Given the description of an element on the screen output the (x, y) to click on. 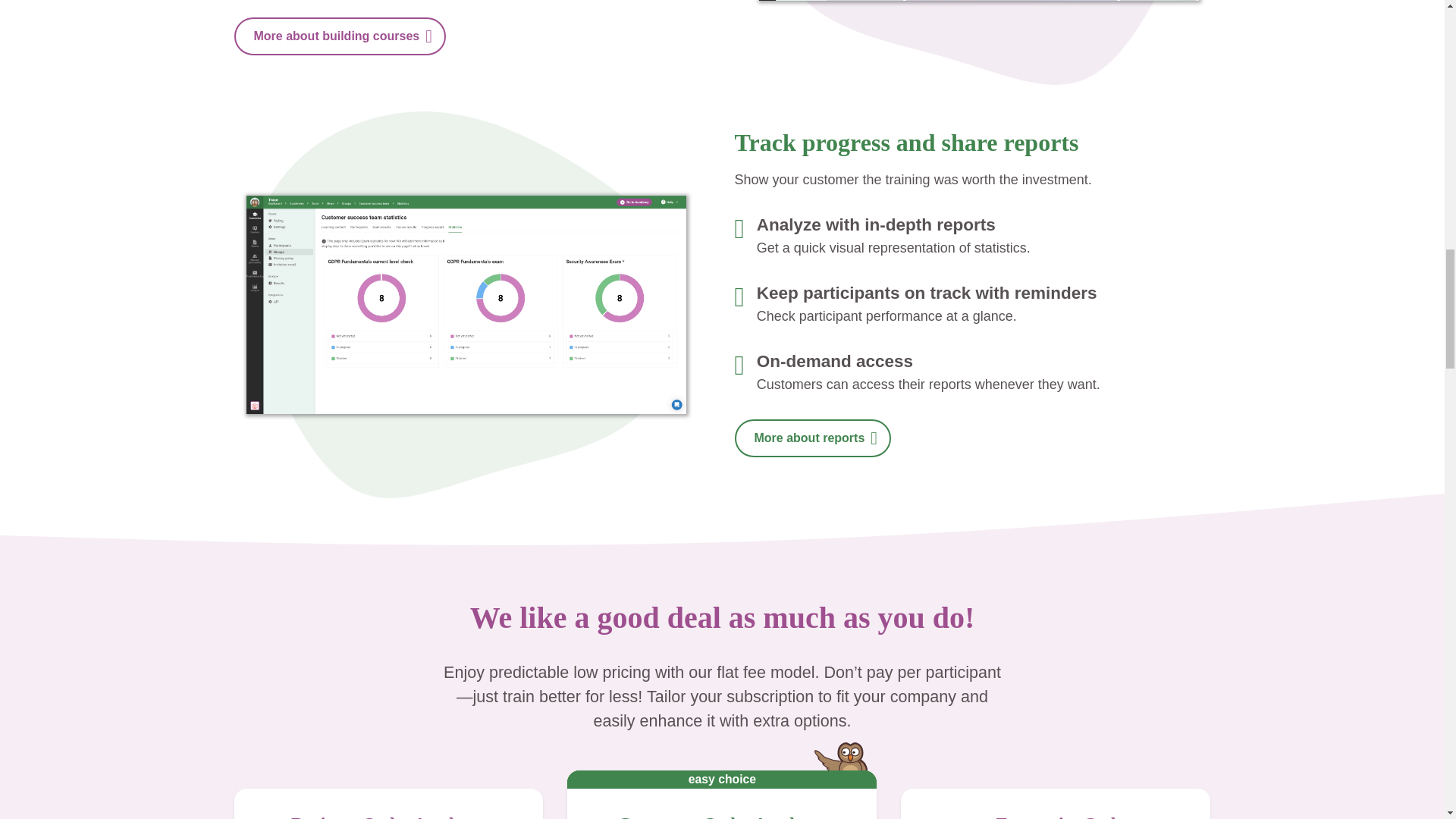
More about building courses (338, 36)
More about reports (812, 438)
